Given the description of an element on the screen output the (x, y) to click on. 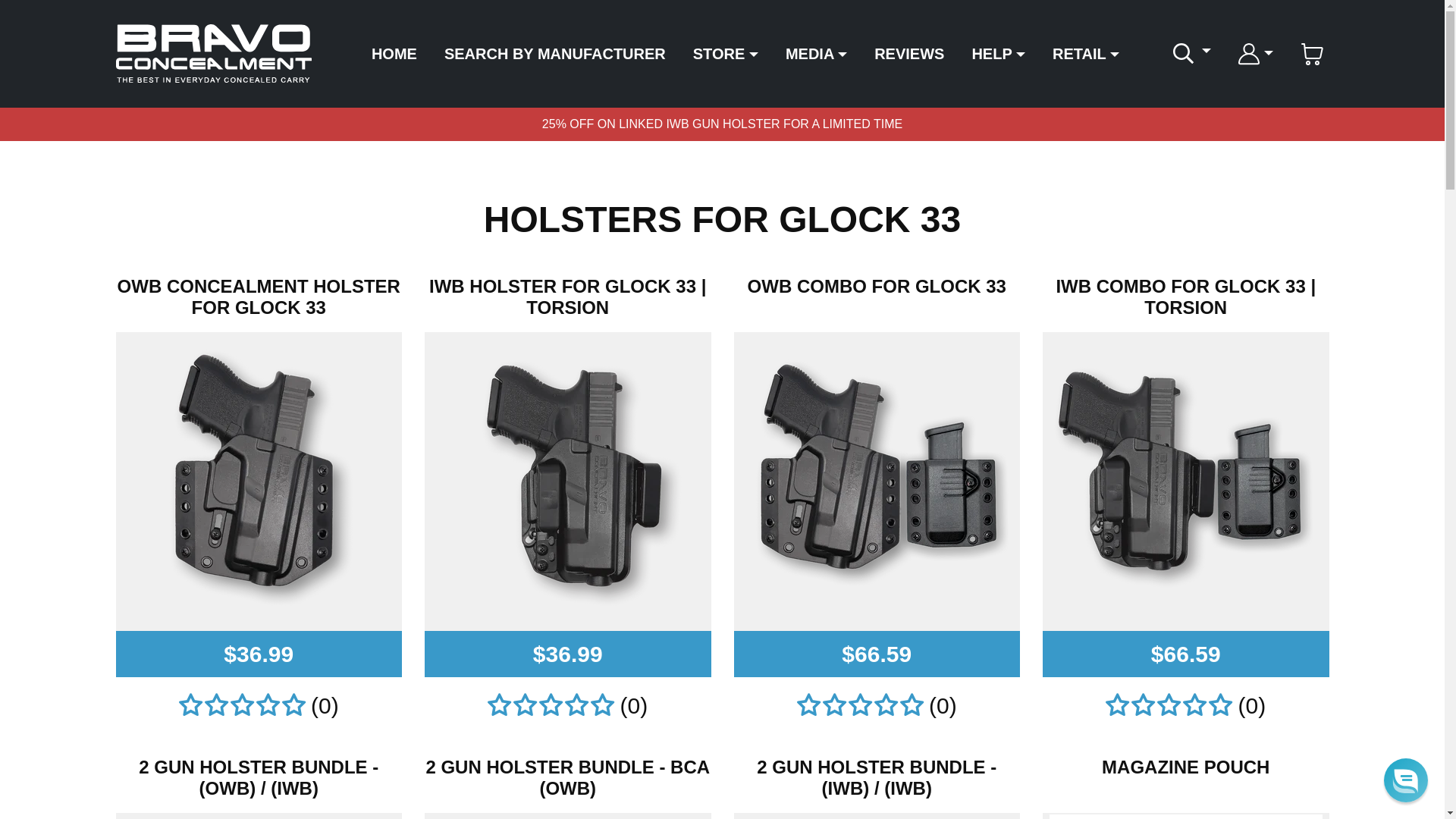
Cart (1311, 53)
HOME (394, 53)
Search (1183, 52)
OWB CONCEALMENT HOLSTER FOR GLOCK 33 (258, 298)
SEARCH BY MANUFACTURER (554, 53)
RETAIL (1085, 53)
Bravo Concealment (213, 53)
REVIEWS (908, 53)
STORE (725, 53)
MEDIA (815, 53)
HELP (997, 53)
User (1249, 53)
